Given the description of an element on the screen output the (x, y) to click on. 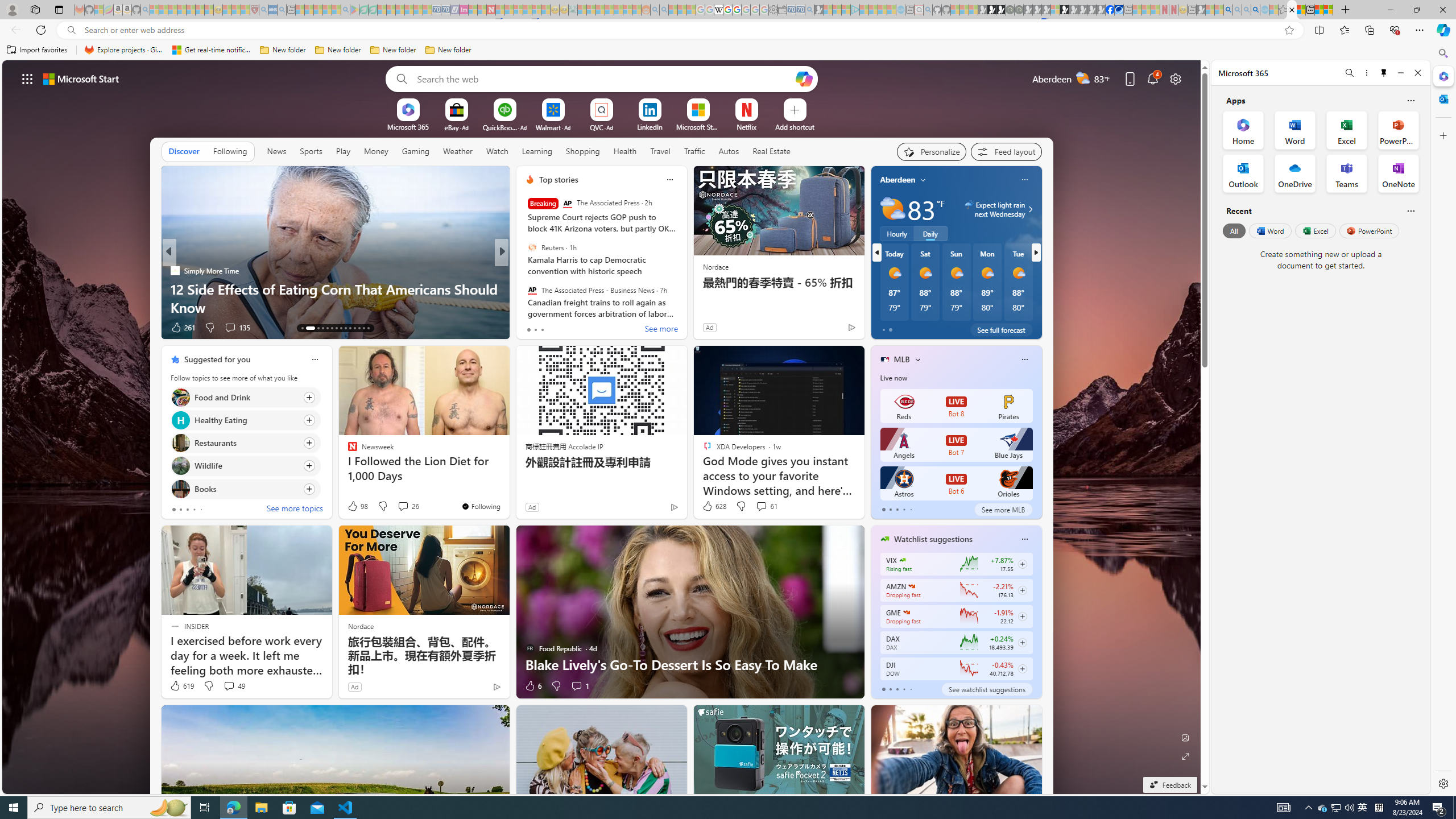
AutomationID: tab-19 (336, 328)
How to restart your PC with just the keyboard (684, 307)
Health (624, 151)
Health (624, 151)
News (277, 151)
View comments 1 Comment (576, 685)
AutomationID: tab-17 (327, 328)
More options (1366, 72)
More interests (917, 359)
Travel (660, 151)
